Given the description of an element on the screen output the (x, y) to click on. 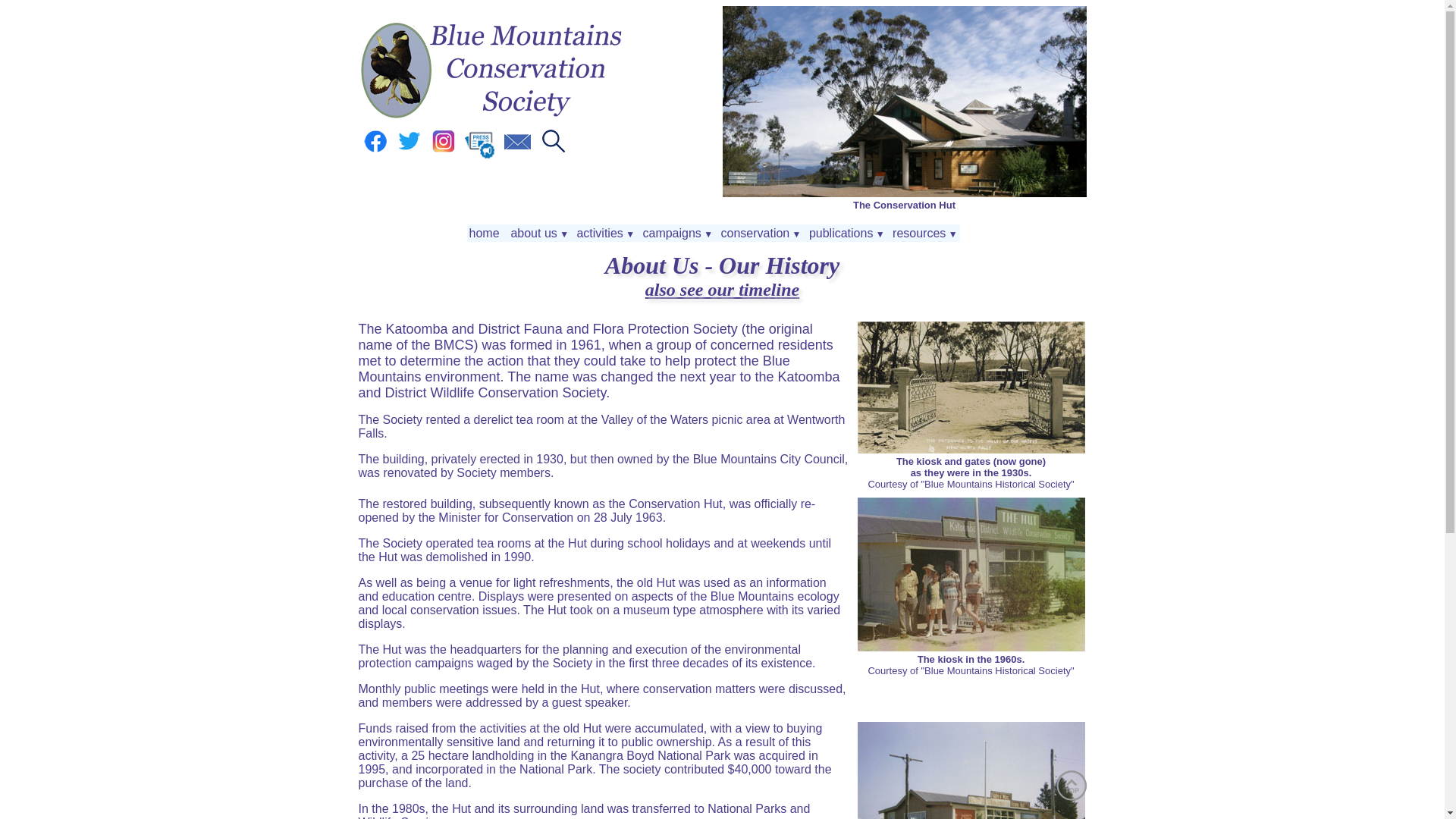
search our website Element type: hover (553, 148)
top of page Element type: hover (1070, 785)
contact us Element type: hover (517, 148)
Home Element type: hover (490, 116)
media releases Element type: hover (479, 156)
twitter Element type: hover (409, 148)
Instagram Element type: hover (443, 148)
also see our timeline Element type: text (722, 289)
facebook Element type: hover (375, 148)
home  Element type: text (486, 232)
